Given the description of an element on the screen output the (x, y) to click on. 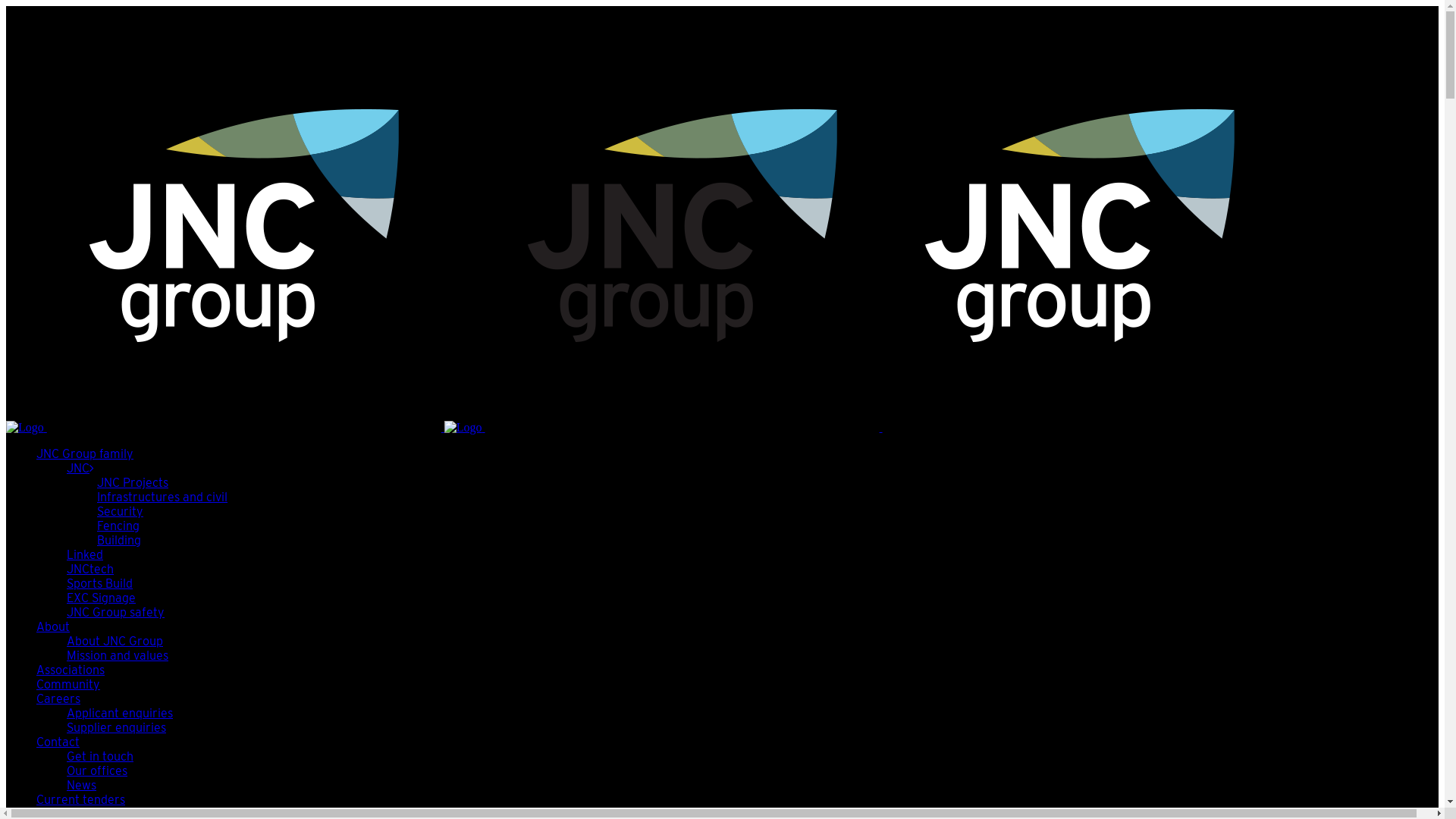
About Element type: text (52, 626)
Fencing Element type: text (118, 525)
JNC Group safety Element type: text (115, 612)
Supplier enquiries Element type: text (116, 727)
JNC Group family Element type: text (84, 453)
Infrastructures and civil Element type: text (162, 496)
Applicant enquiries Element type: text (119, 713)
JNC Element type: text (80, 468)
Linked Element type: text (84, 554)
Careers Element type: text (58, 698)
Security Element type: text (120, 511)
Our offices Element type: text (96, 770)
JNC Projects Element type: text (132, 482)
Building Element type: text (119, 540)
JNCtech Element type: text (89, 568)
News Element type: text (81, 785)
Current tenders Element type: text (80, 799)
Associations Element type: text (70, 669)
Community Element type: text (68, 684)
Contact Element type: text (57, 741)
Sports Build Element type: text (99, 583)
Get in touch Element type: text (99, 756)
About JNC Group Element type: text (114, 640)
Mission and values Element type: text (117, 655)
EXC Signage Element type: text (100, 597)
